Given the description of an element on the screen output the (x, y) to click on. 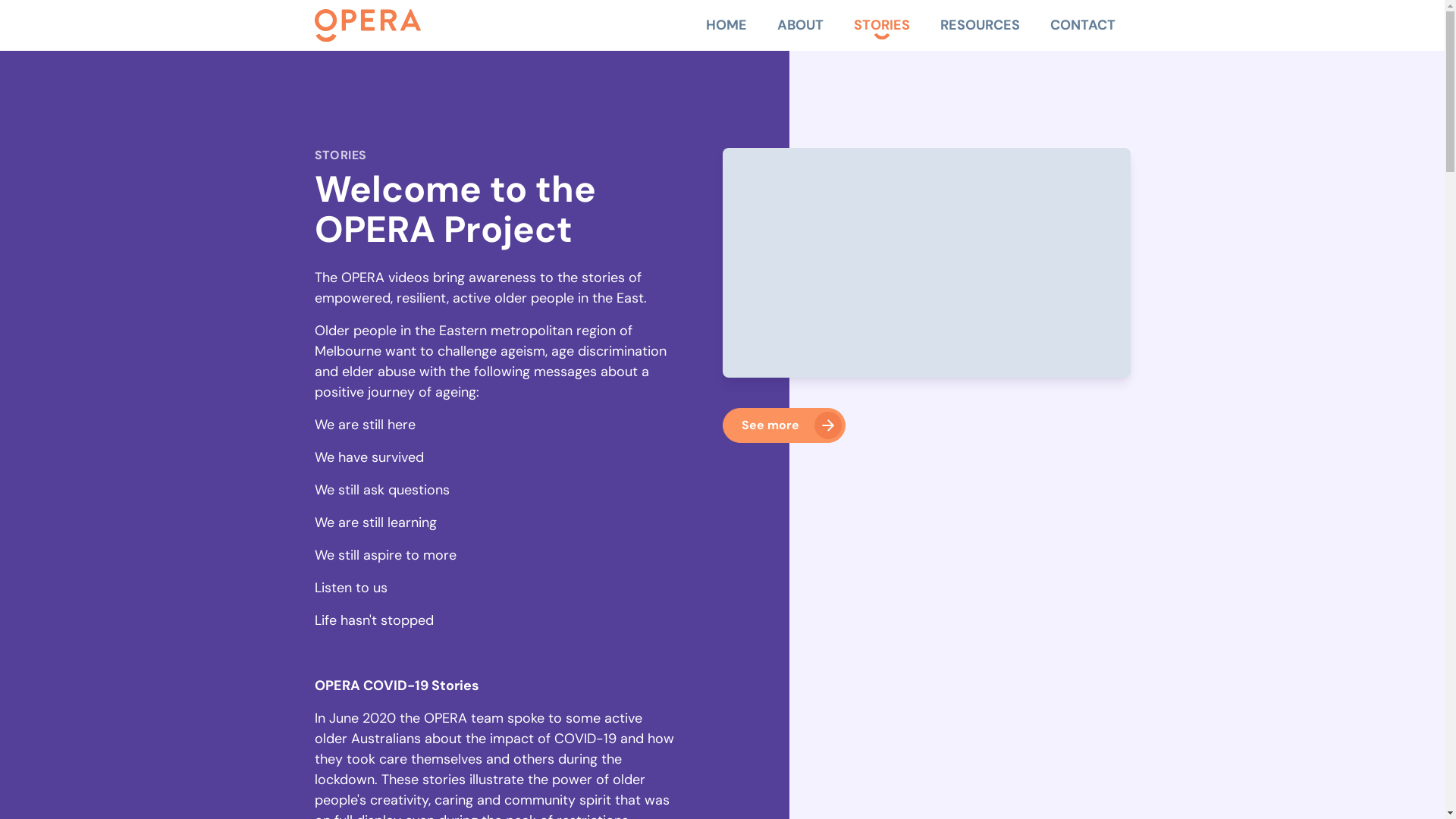
RESOURCES Element type: text (980, 25)
ABOUT Element type: text (799, 25)
CONTACT Element type: text (1081, 25)
_intro_1 Element type: hover (925, 262)
See more Element type: text (782, 424)
HOME Element type: text (725, 25)
STORIES Element type: text (881, 25)
OPERA Element type: hover (366, 25)
